Given the description of an element on the screen output the (x, y) to click on. 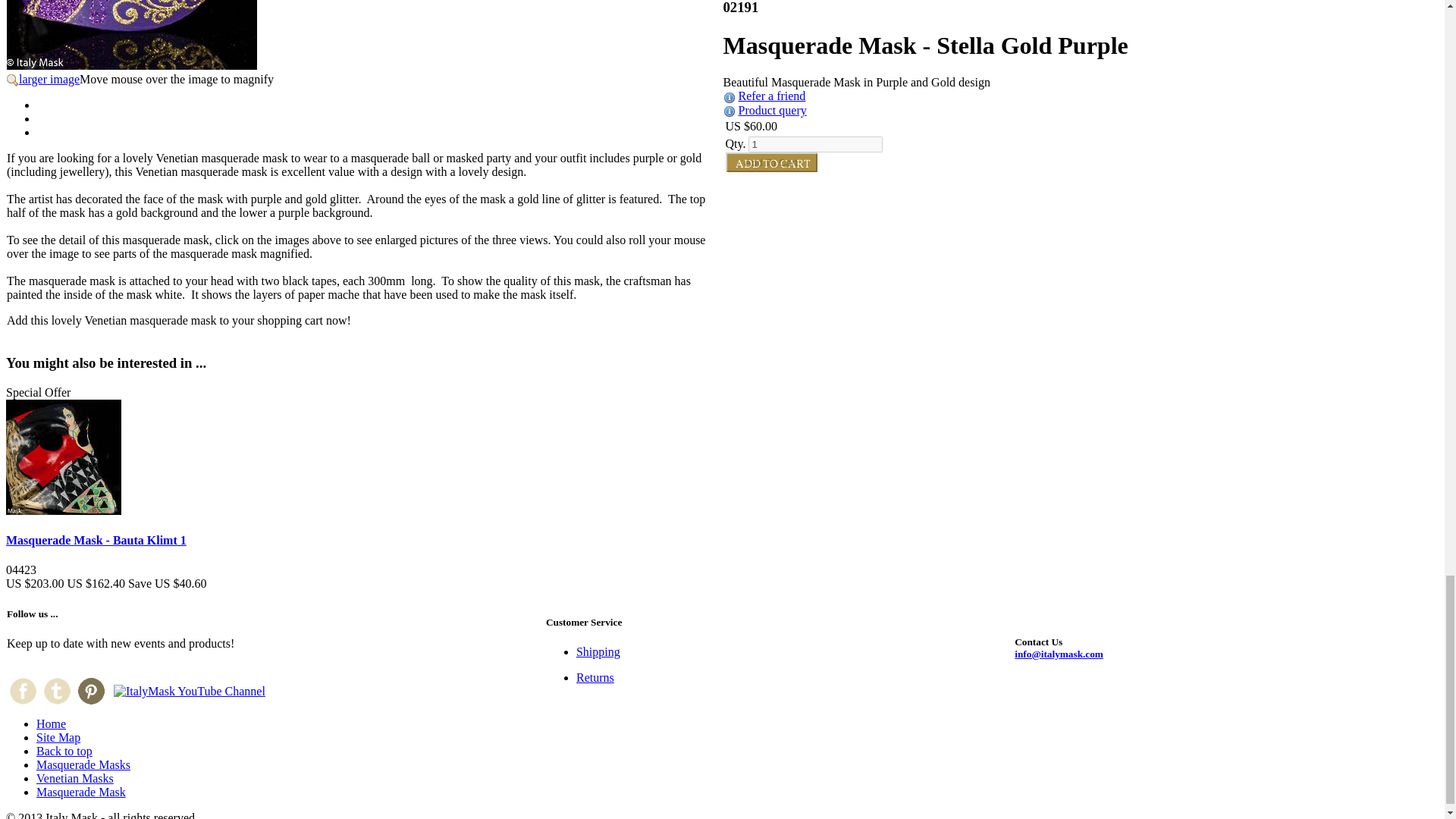
Twitter (56, 691)
1 (815, 144)
Pinterest (91, 691)
Facebook (23, 691)
ItalyMask YouTube Channel (188, 691)
Add To Cart (770, 161)
